Given the description of an element on the screen output the (x, y) to click on. 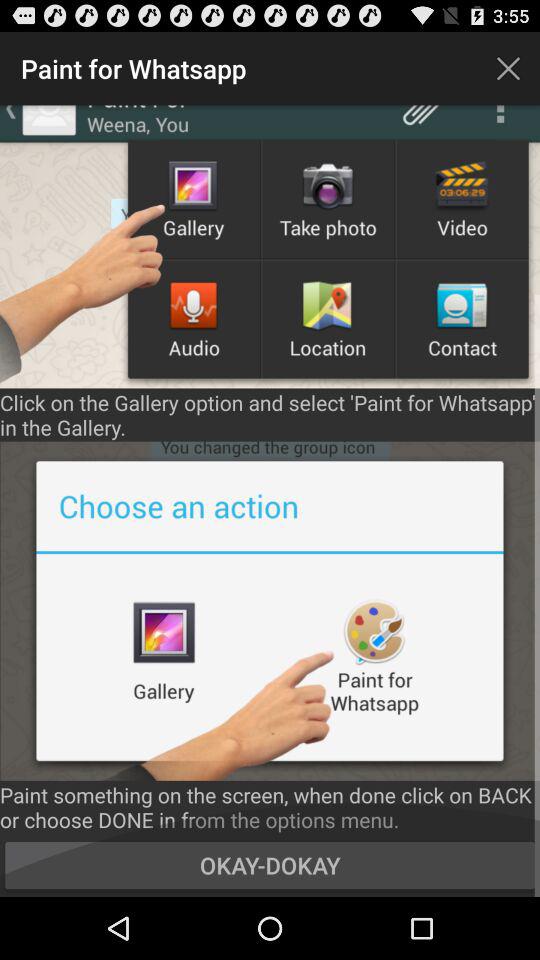
click okay-dokay (270, 864)
